Given the description of an element on the screen output the (x, y) to click on. 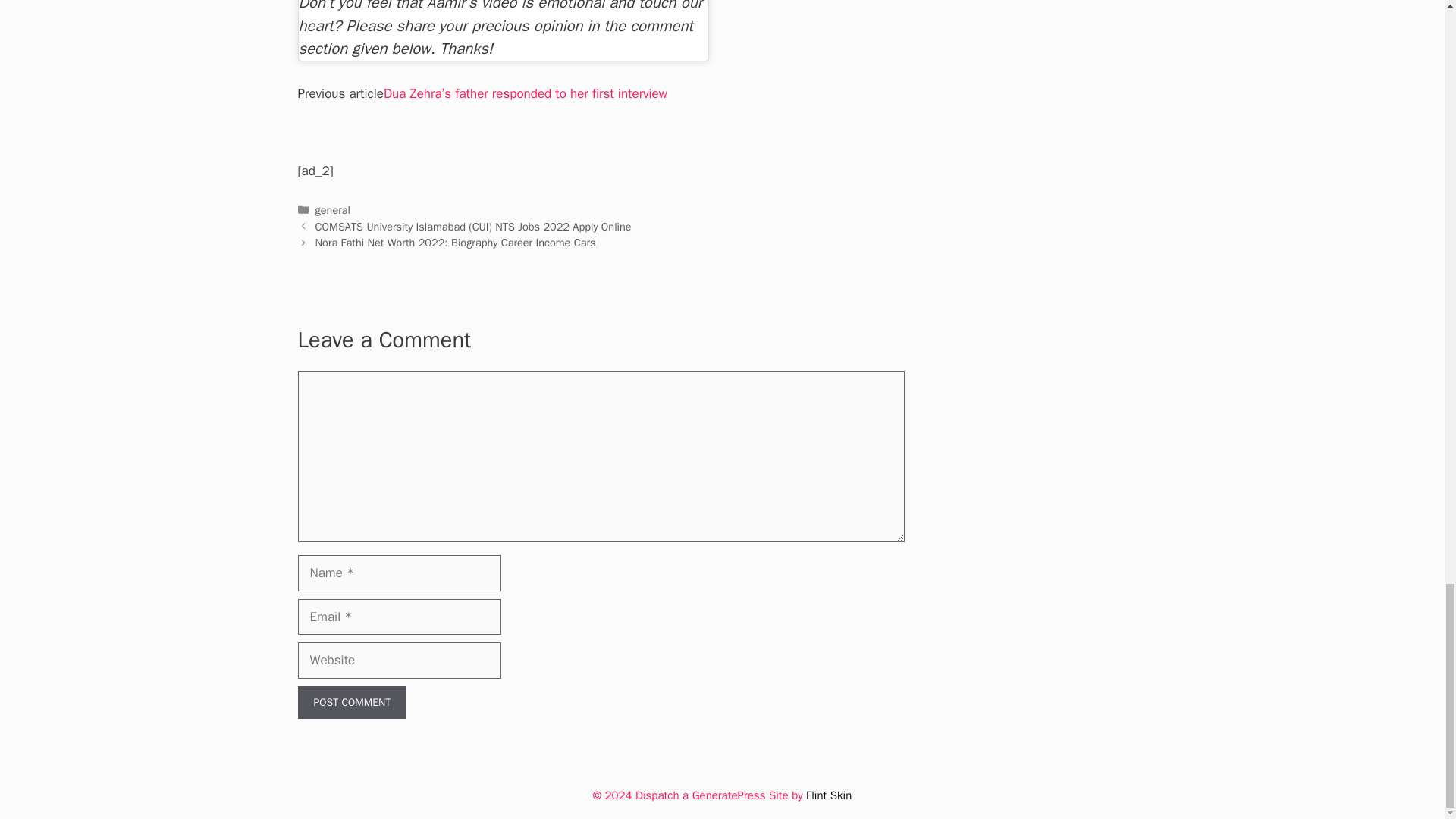
Post Comment (351, 702)
